Given the description of an element on the screen output the (x, y) to click on. 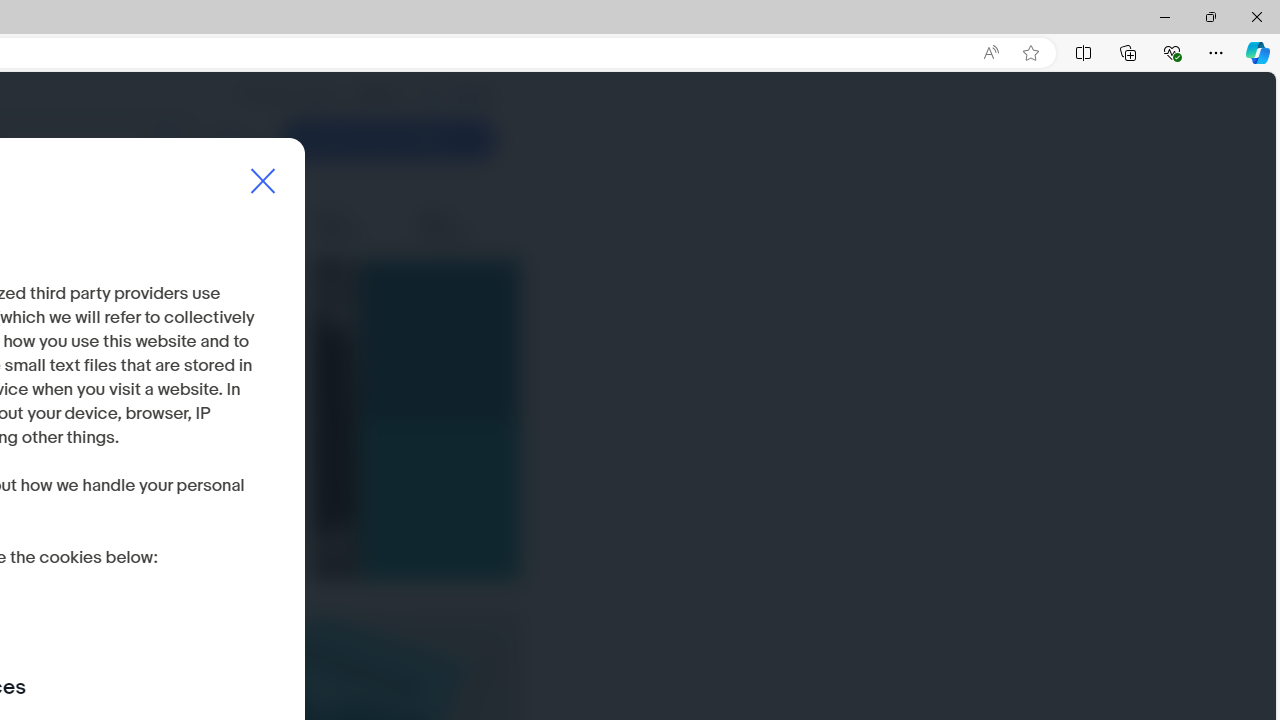
Class: search-input__icon (168, 139)
Create Your Listing (388, 139)
eBay Partners (457, 225)
Class: btn__arrow (469, 139)
Class: header__toplink-icon (489, 95)
Seller updates (353, 225)
Class: search-input__btn (168, 139)
Marketing (257, 226)
Accept All (205, 559)
IN (429, 95)
